Given the description of an element on the screen output the (x, y) to click on. 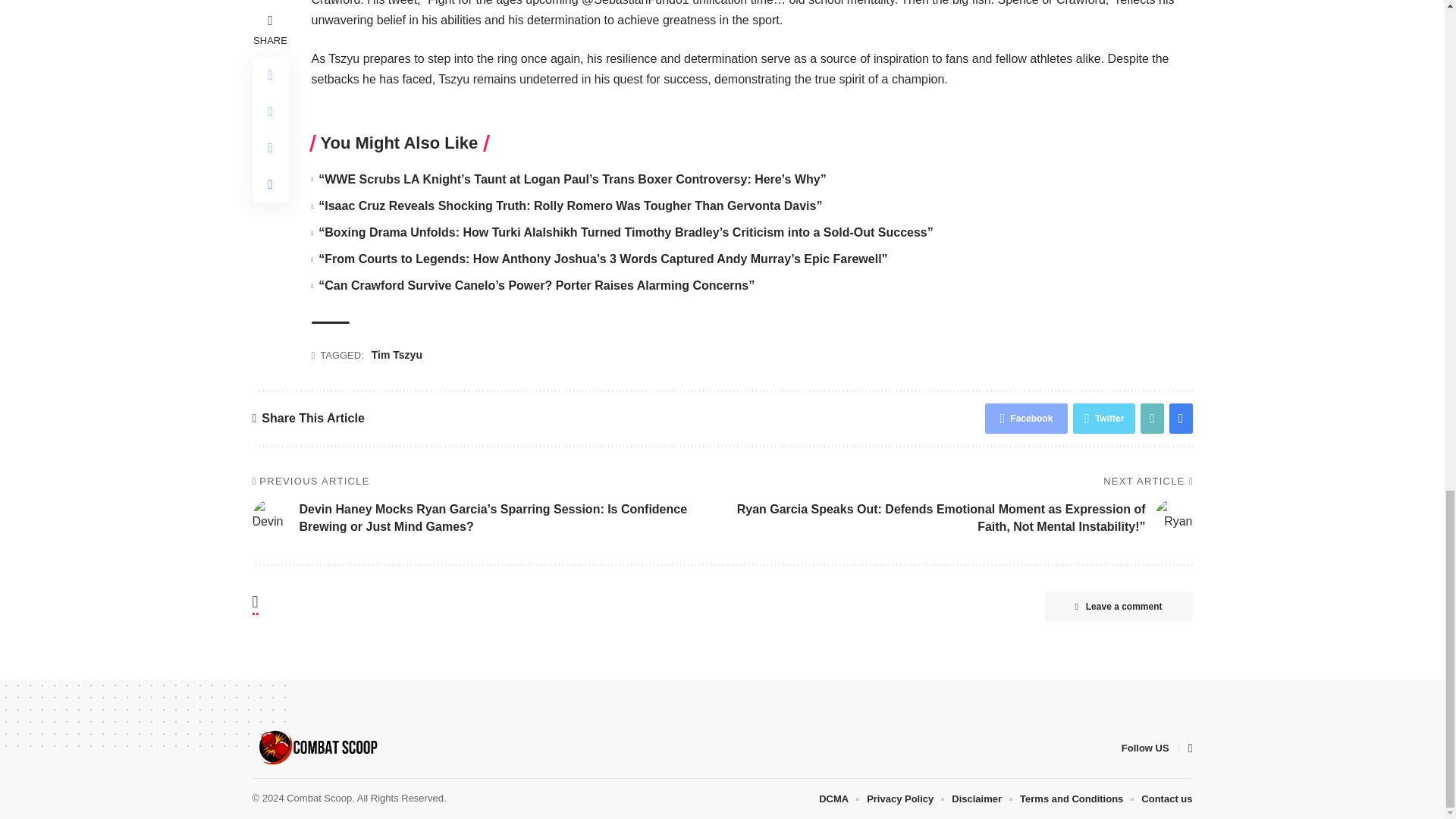
Combat Scoop (316, 747)
